Given the description of an element on the screen output the (x, y) to click on. 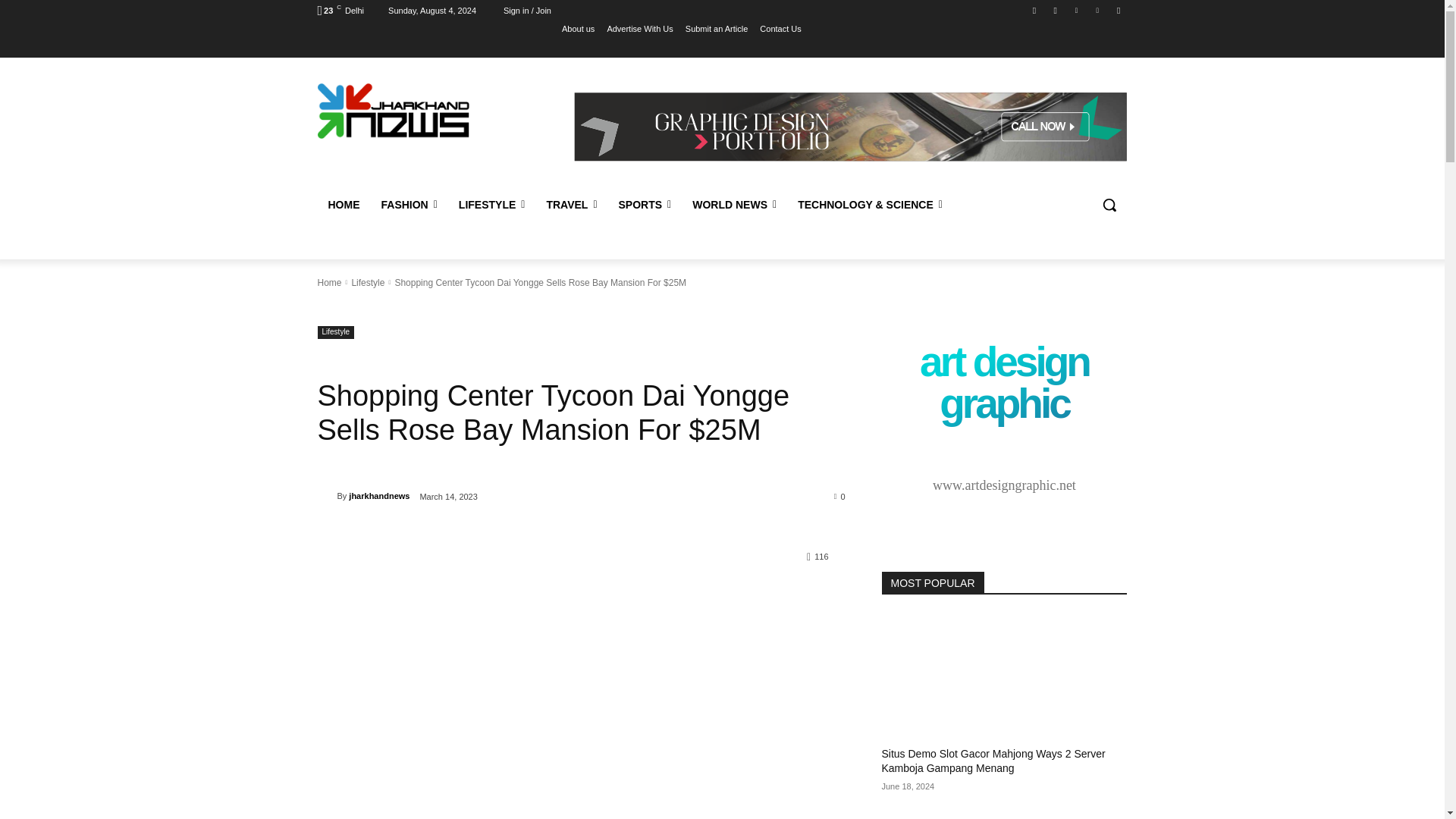
Twitter (1075, 9)
Facebook (1034, 9)
Vimeo (1097, 9)
Youtube (1117, 9)
Instagram (1055, 9)
